Given the description of an element on the screen output the (x, y) to click on. 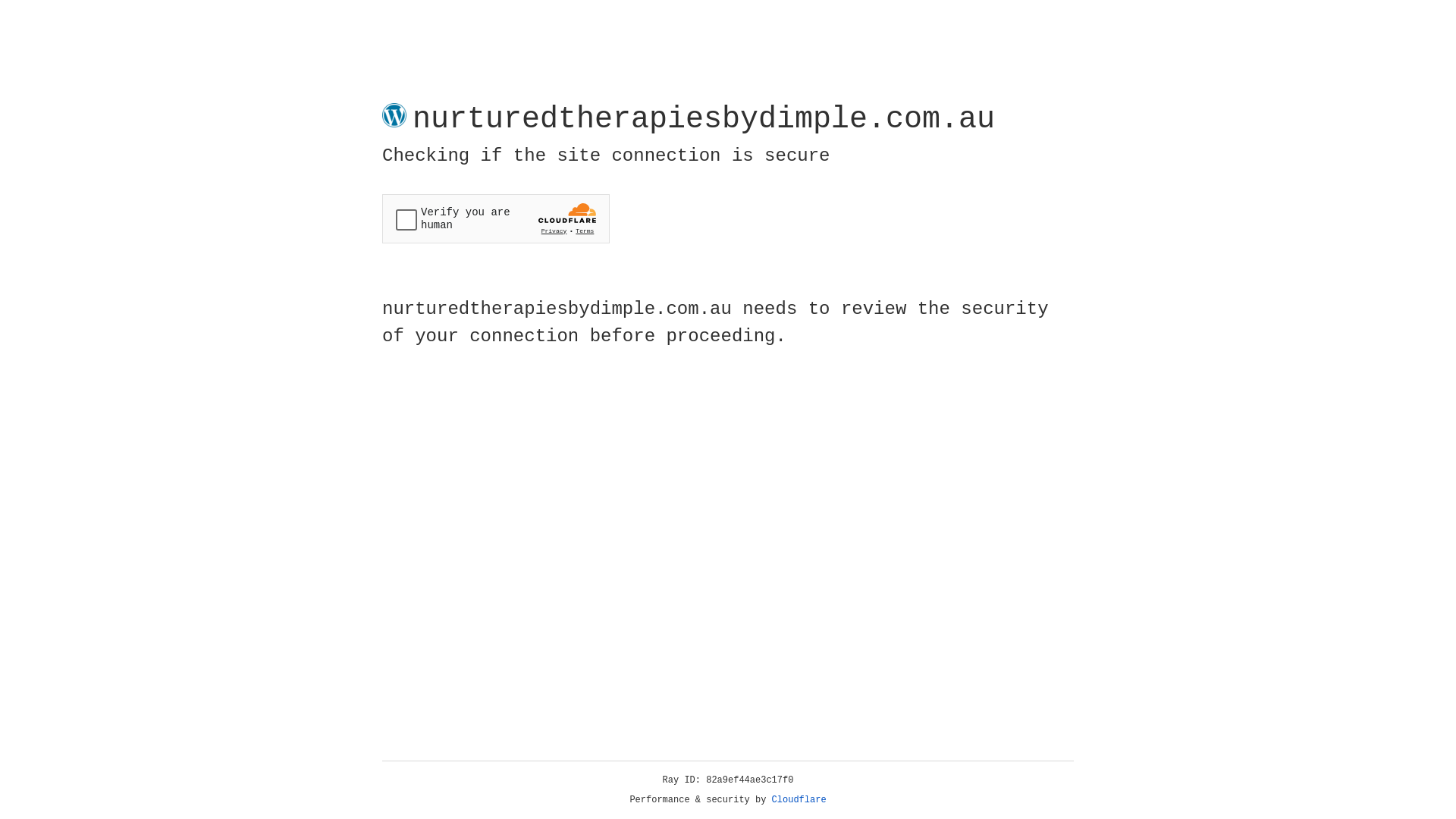
Widget containing a Cloudflare security challenge Element type: hover (495, 218)
Cloudflare Element type: text (798, 799)
